Given the description of an element on the screen output the (x, y) to click on. 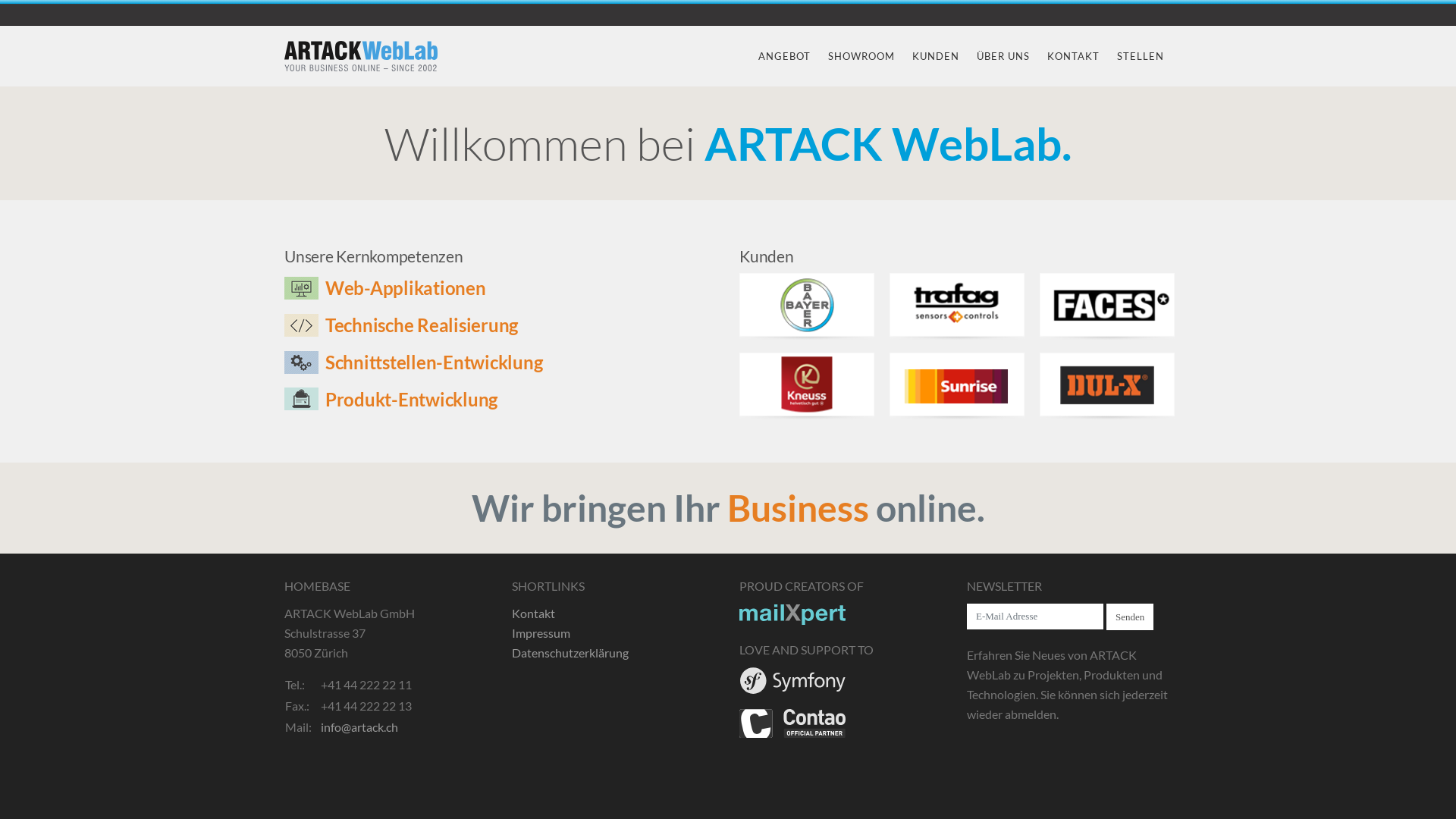
Impressum Element type: text (540, 632)
Senden Element type: text (1129, 616)
info@artack.ch Element type: text (359, 726)
Schnittstellen-Entwicklung Element type: text (413, 359)
Web-Applikationen Element type: text (385, 285)
SHOWROOM Element type: text (861, 55)
KUNDEN Element type: text (935, 55)
ANGEBOT Element type: text (784, 55)
Technische Realisierung Element type: text (400, 322)
Kontakt Element type: text (533, 612)
STELLEN Element type: text (1140, 55)
Produkt-Entwicklung Element type: text (390, 396)
KONTAKT Element type: text (1073, 55)
